Given the description of an element on the screen output the (x, y) to click on. 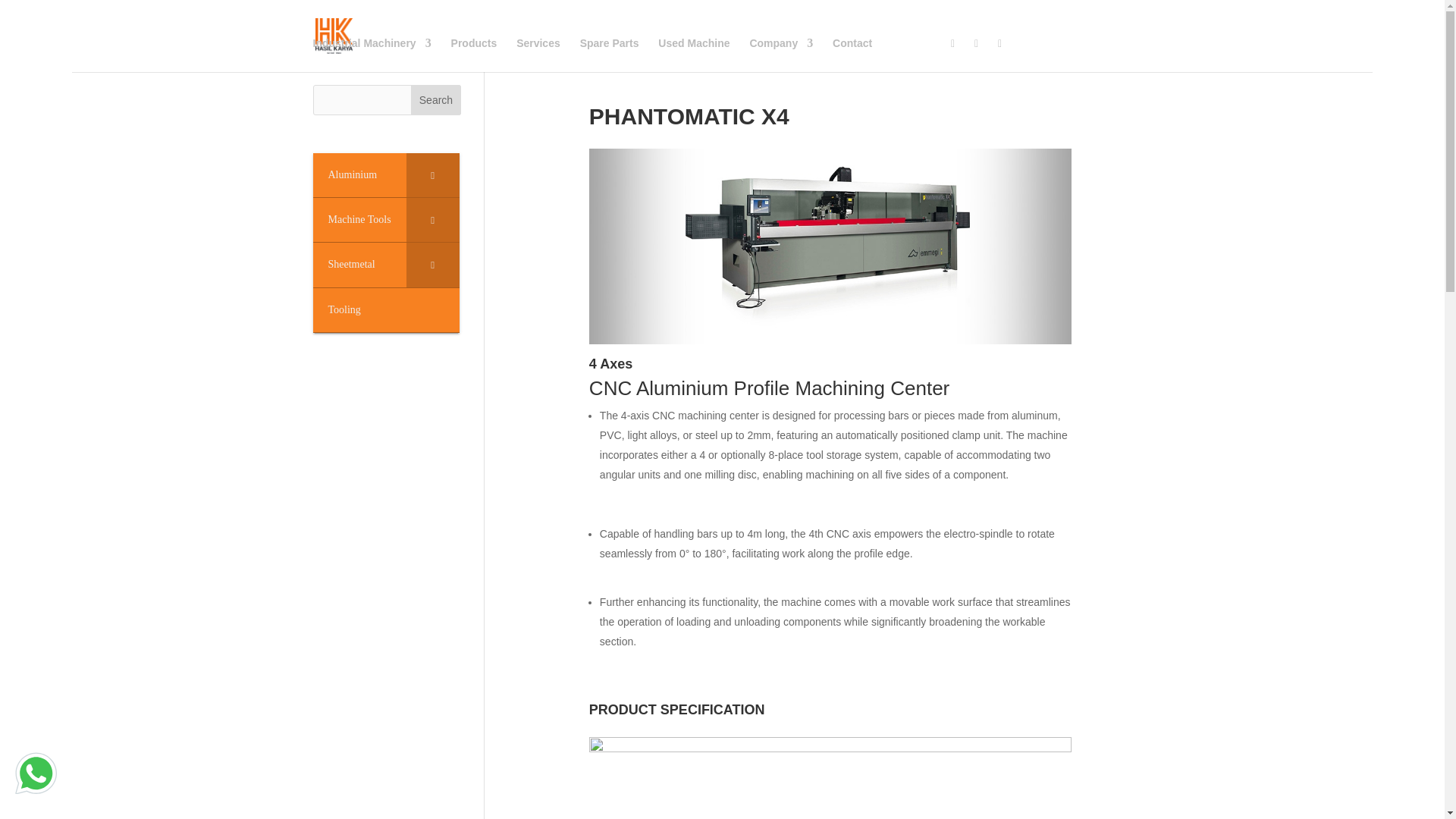
Search (435, 100)
Aluminium (385, 175)
Services (538, 54)
Company (780, 54)
aluminium-profile-machining-center-Phantomatic-X4 (830, 340)
Industrial Machinery (371, 54)
Used Machine (693, 54)
Spare Parts (609, 54)
Contact (852, 54)
Products (474, 54)
